Given the description of an element on the screen output the (x, y) to click on. 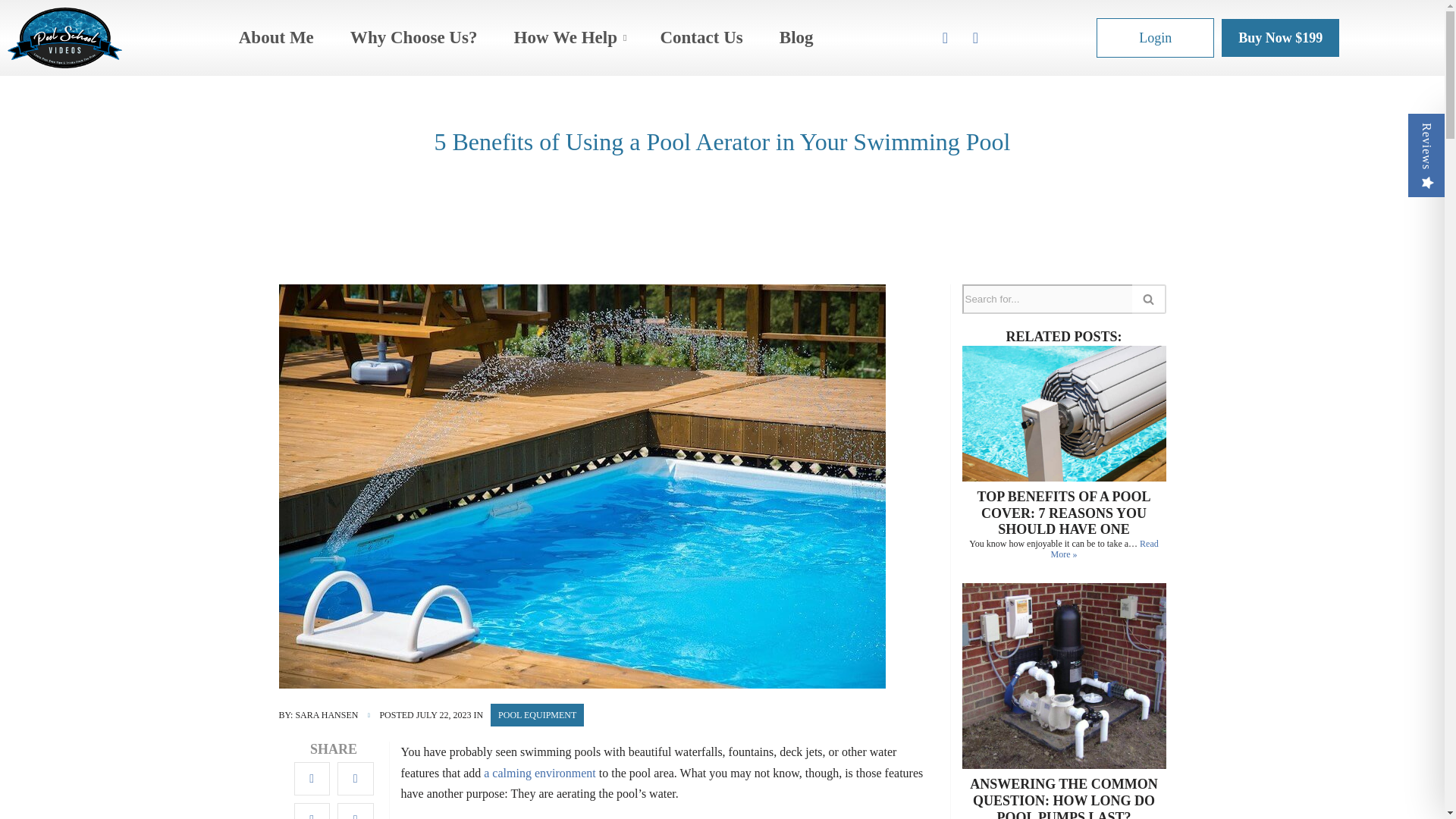
Contact Us (701, 37)
a calming environment (539, 772)
About Me (276, 37)
Share on twitter (355, 778)
Login (1155, 37)
Why Choose Us? (413, 37)
Share on linkedin-in (312, 811)
How We Help (568, 37)
Share on facebook-f (312, 778)
Blog (796, 37)
